Given the description of an element on the screen output the (x, y) to click on. 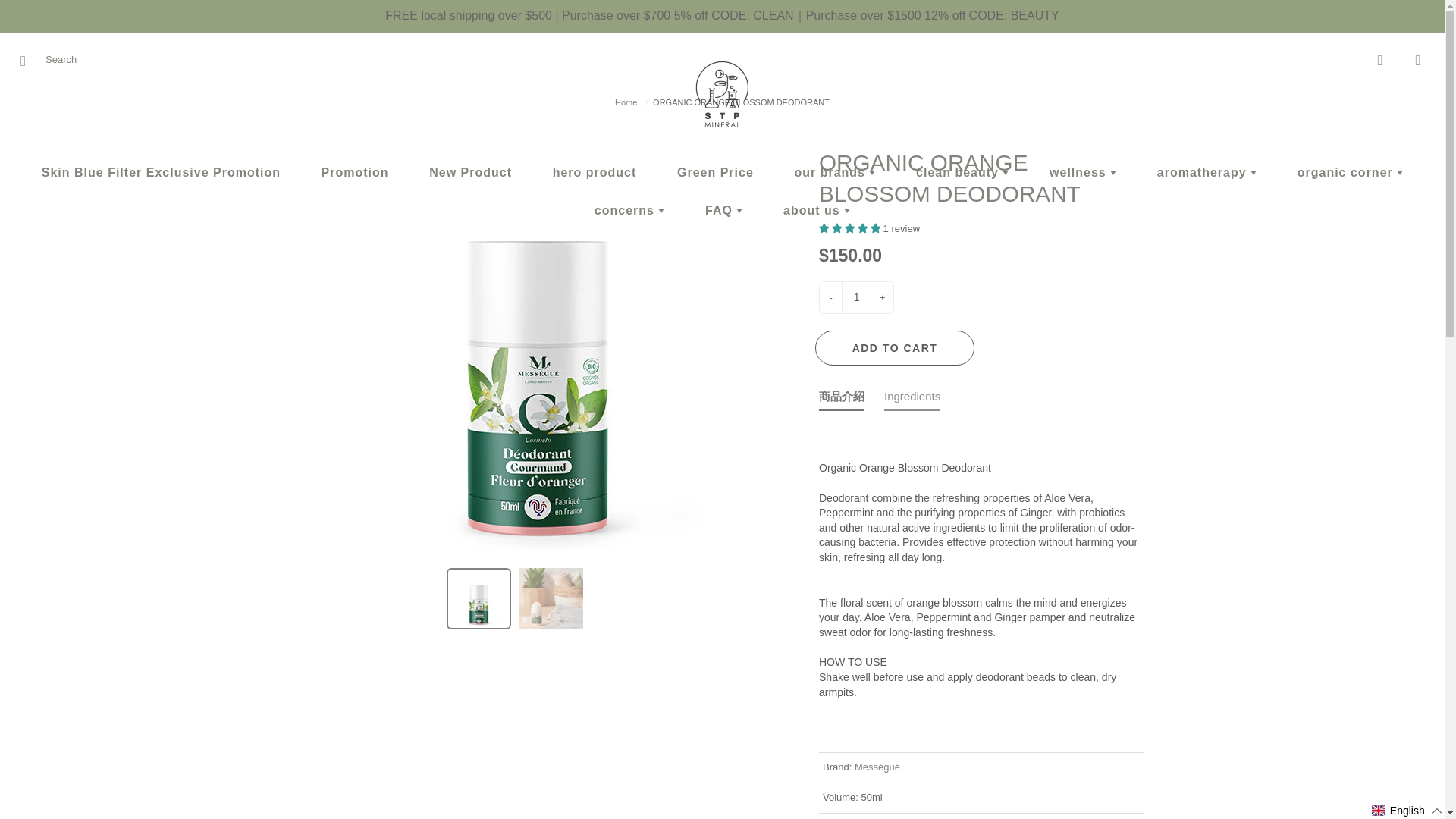
Green Price (715, 172)
1 (855, 296)
hero product (595, 172)
My account (1379, 60)
You have 0 items in your cart (1417, 60)
our brands (833, 172)
Home (625, 102)
ORGANIC ORANGE BLOSSOM DEODORANT (550, 598)
Skin Blue Filter Exclusive Promotion (161, 172)
New Product (470, 172)
Promotion (354, 172)
ORGANIC ORANGE BLOSSOM DEODORANT (478, 598)
Search (28, 60)
